Given the description of an element on the screen output the (x, y) to click on. 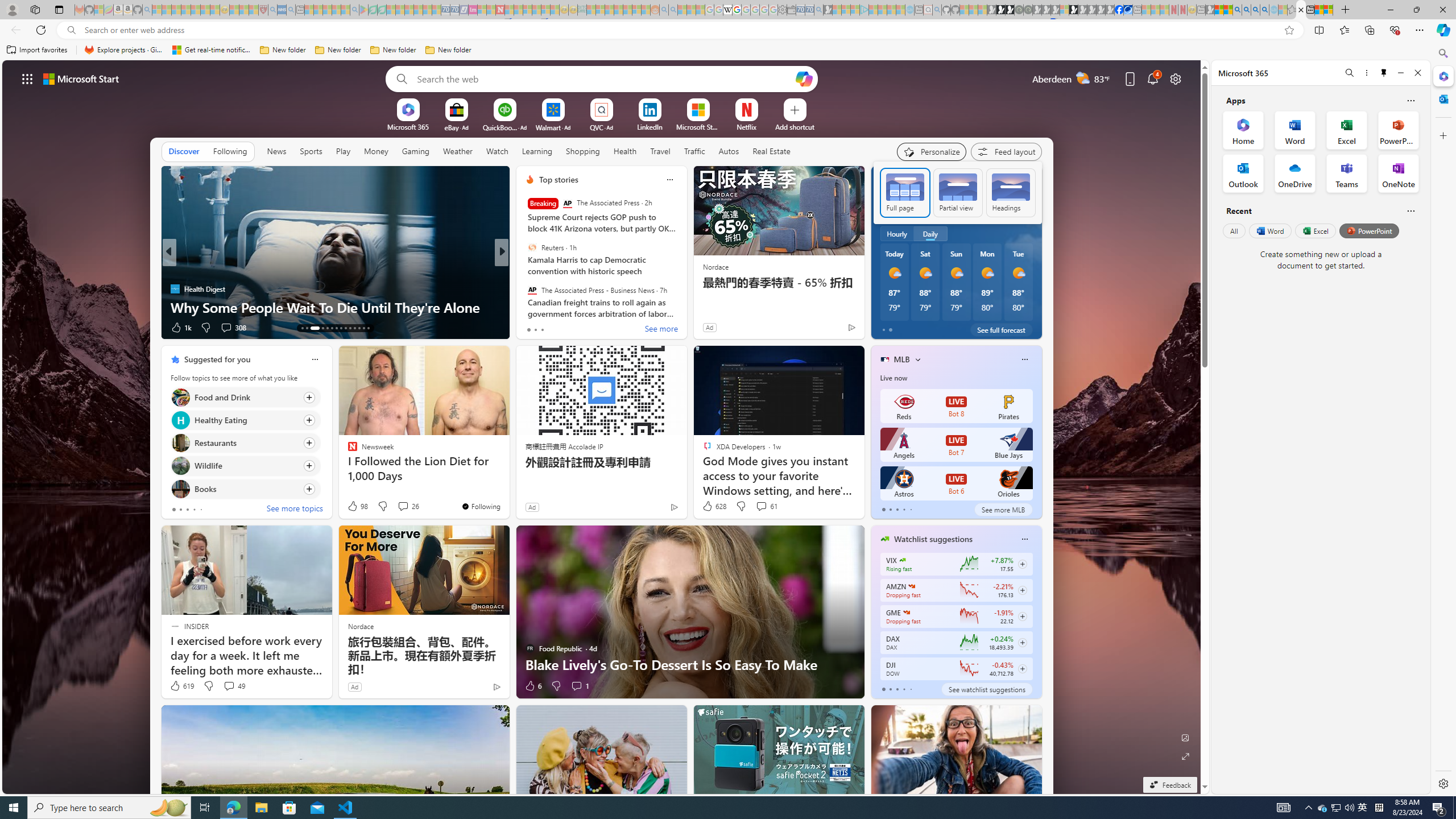
Money (375, 151)
Favorites - Sleeping (1291, 9)
View comments 308 Comment (225, 327)
Click to follow topic Food and Drink (245, 397)
LinkedIn (649, 126)
AutomationID: tab-14 (306, 328)
Class: follow-button  m (1021, 668)
New tab - Sleeping (1200, 9)
Notifications (1152, 78)
Easy pasta dinner trick is so yummy (684, 307)
DITOGAMES AG Imprint - Sleeping (581, 9)
